Given the description of an element on the screen output the (x, y) to click on. 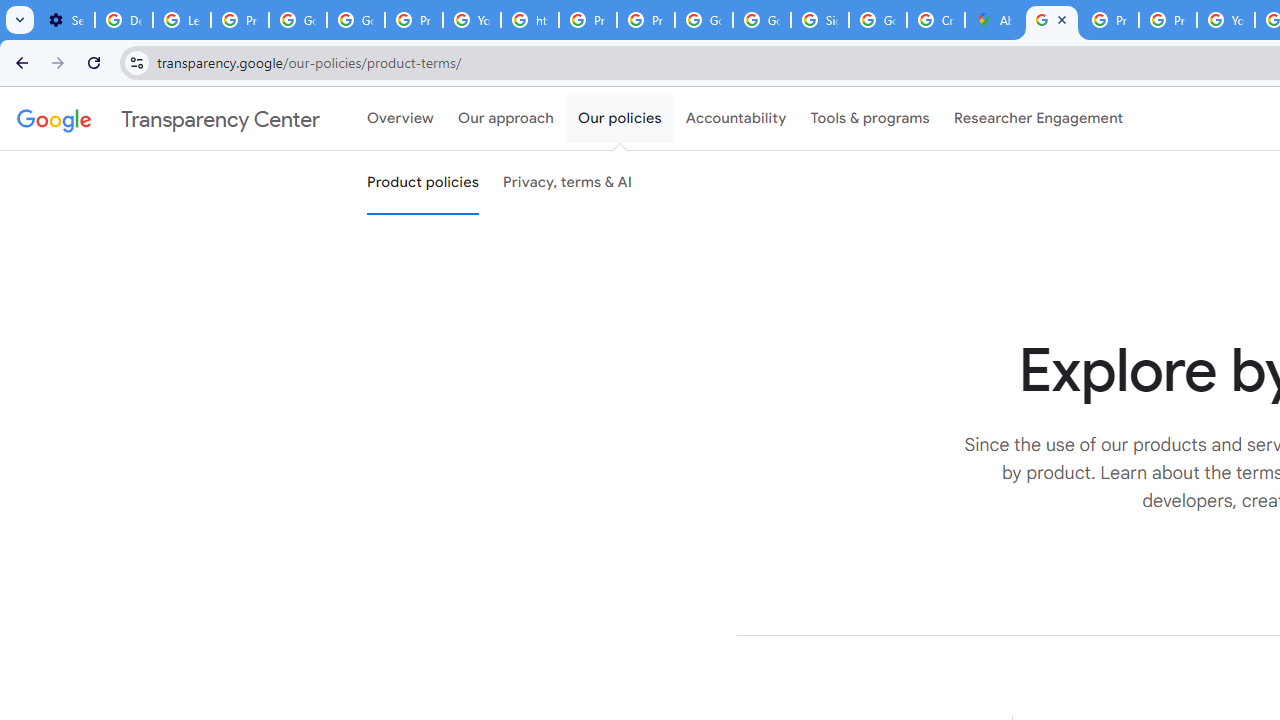
Create your Google Account (936, 20)
Tools & programs (869, 119)
Researcher Engagement (1038, 119)
Privacy Help Center - Policies Help (1167, 20)
YouTube (1225, 20)
Settings - On startup (65, 20)
Transparency Center (167, 119)
Our approach (506, 119)
